Given the description of an element on the screen output the (x, y) to click on. 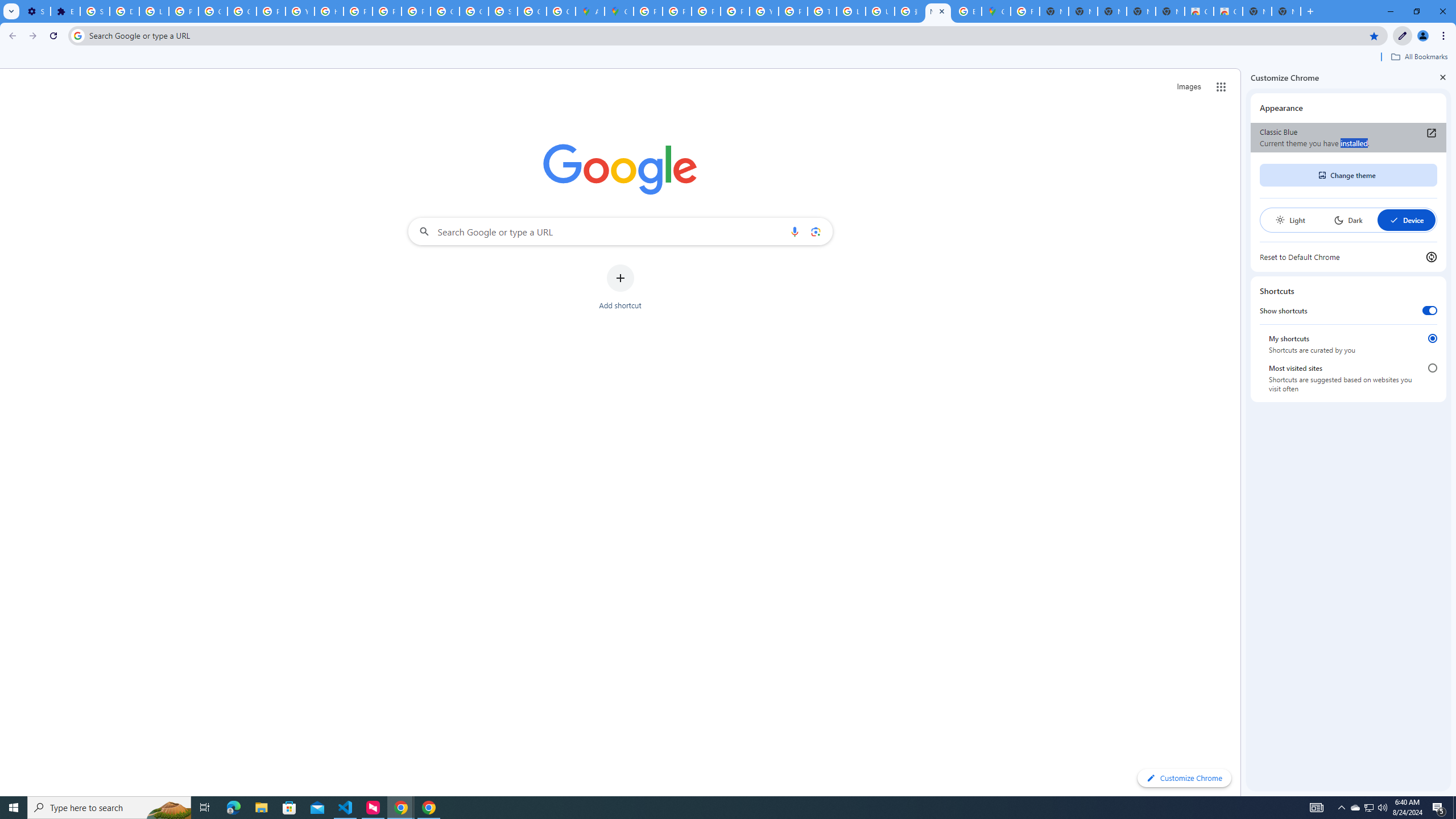
Dark (1348, 219)
Device (1406, 219)
Classic Blue Current theme you have installed. (1347, 137)
YouTube (763, 11)
Settings - On startup (35, 11)
Side Panel Resize Handle (1242, 431)
Explore new street-level details - Google Maps Help (967, 11)
Light (1289, 219)
